Given the description of an element on the screen output the (x, y) to click on. 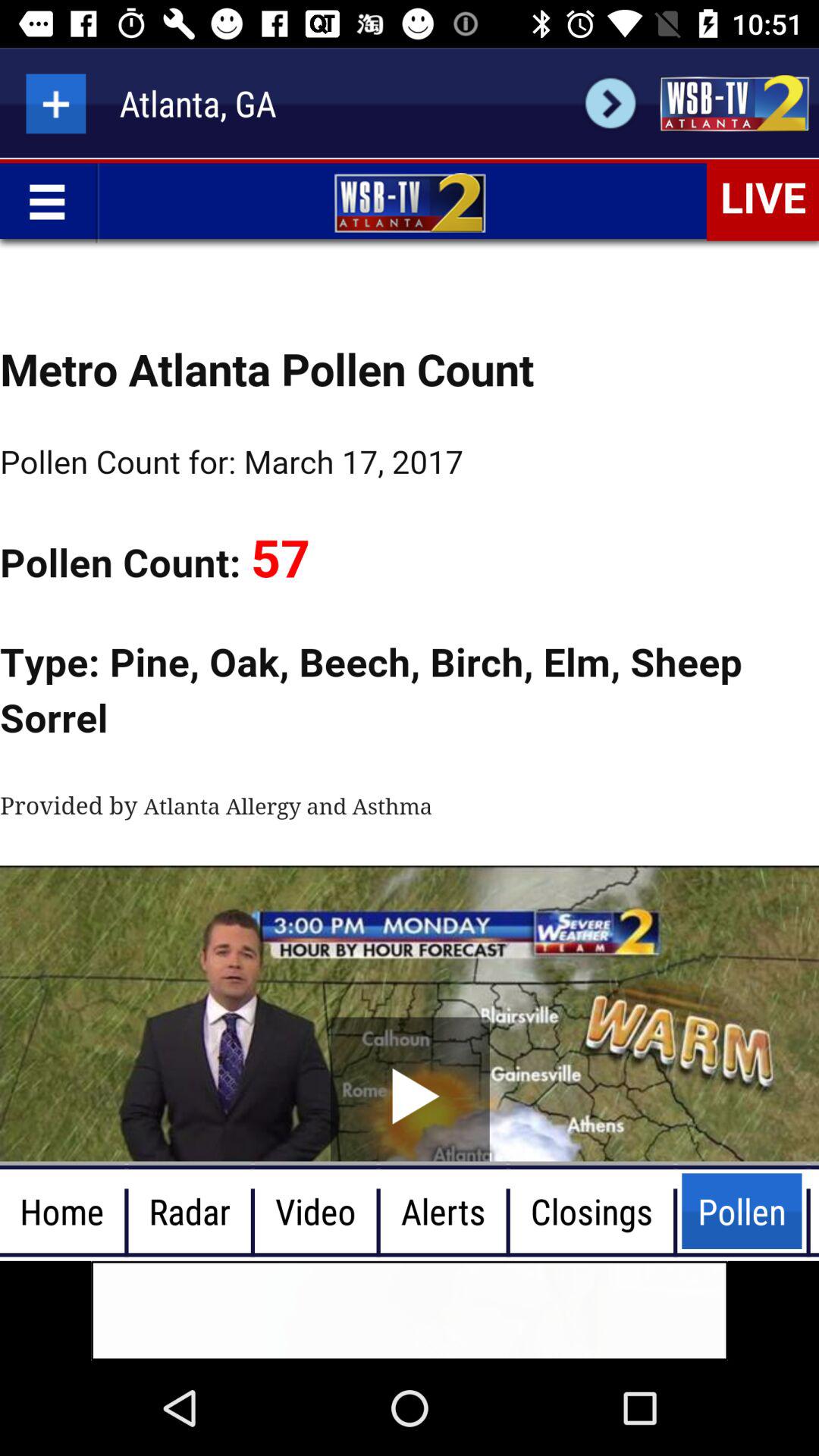
go forward (610, 103)
